Given the description of an element on the screen output the (x, y) to click on. 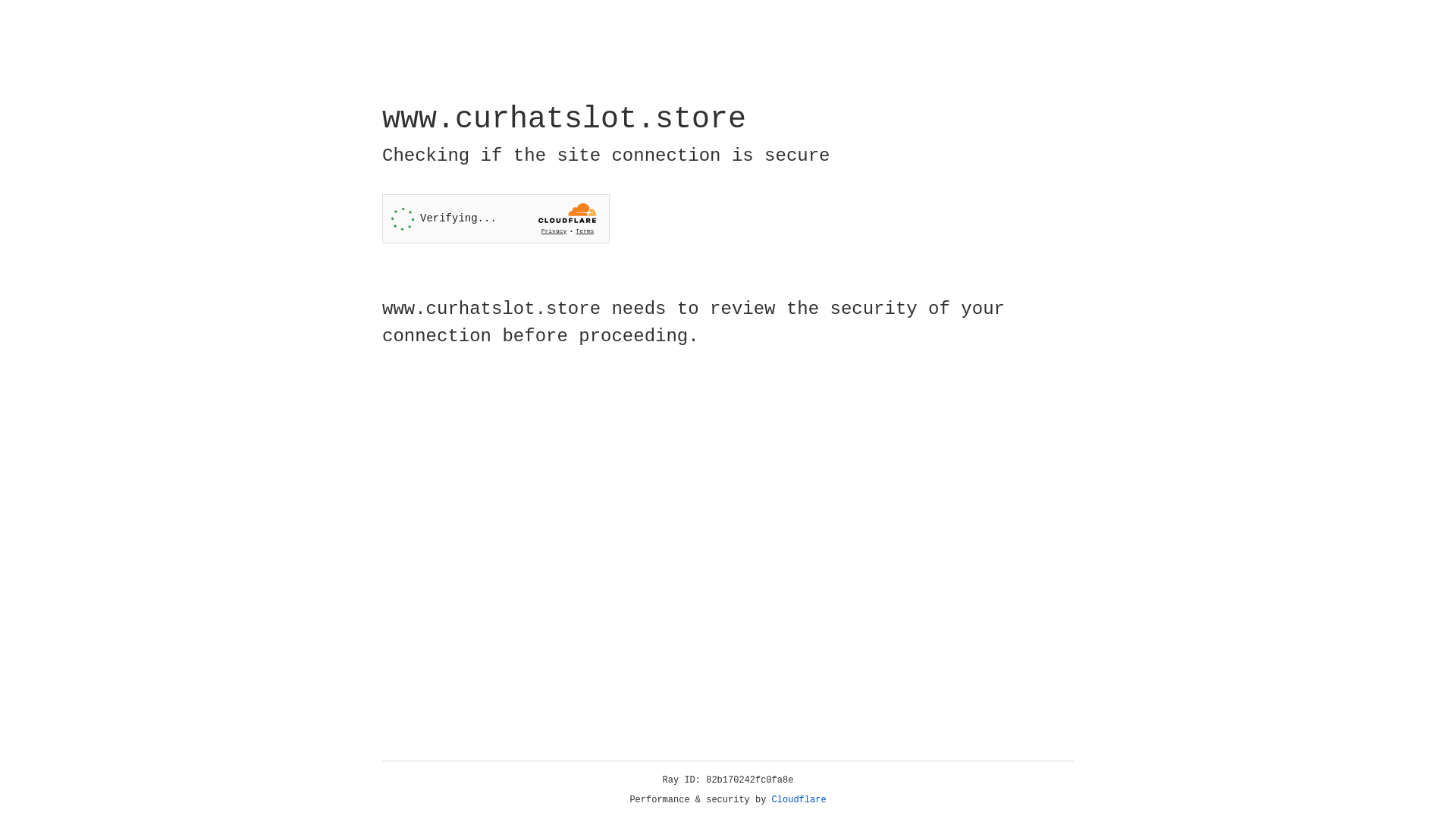
Widget containing a Cloudflare security challenge Element type: hover (495, 218)
Cloudflare Element type: text (798, 799)
